Given the description of an element on the screen output the (x, y) to click on. 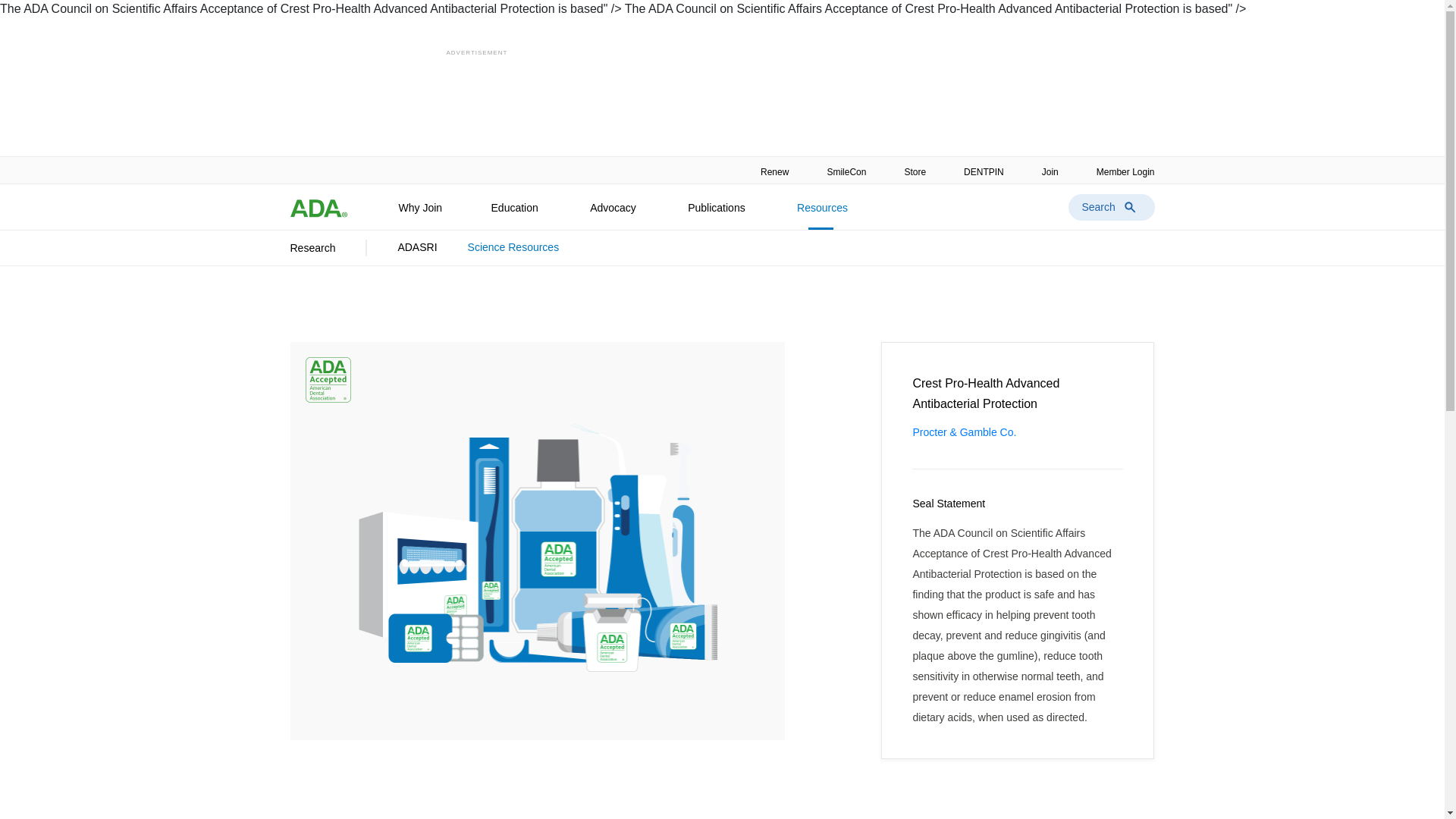
Resources (823, 214)
SmileCon (846, 170)
Store (914, 170)
Member Login (1115, 170)
Publications (717, 214)
Join (1050, 170)
3rd party ad content (721, 91)
DENTPIN (983, 170)
Advocacy (614, 214)
Education (516, 214)
